Given the description of an element on the screen output the (x, y) to click on. 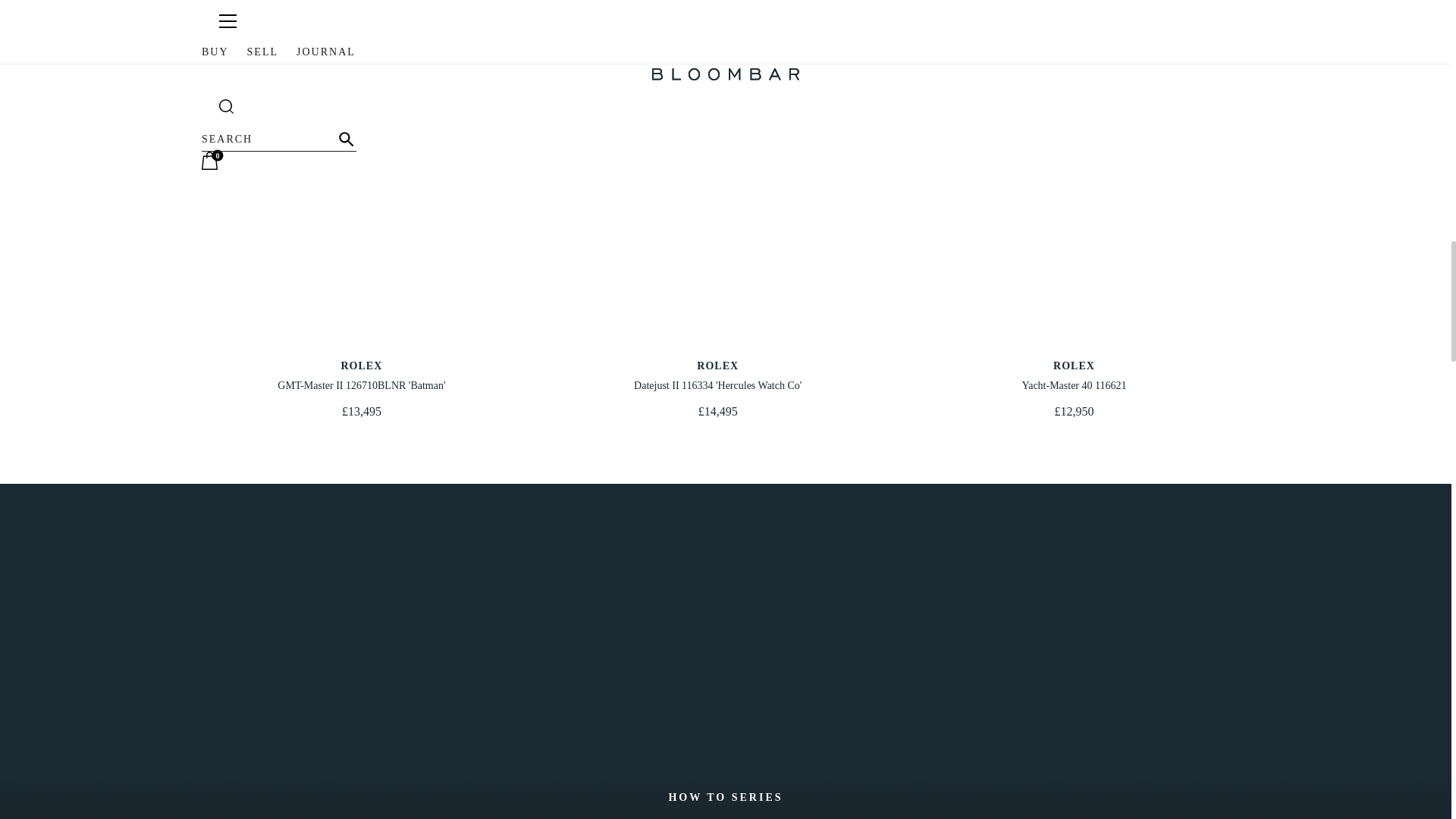
Rolex Datejust II 116334 'Hercules Watch Co' (717, 177)
Rolex Yacht-Master 40 116621 (361, 375)
Rolex GMT-Master II 126710BLNR 'Batman' (717, 375)
